Given the description of an element on the screen output the (x, y) to click on. 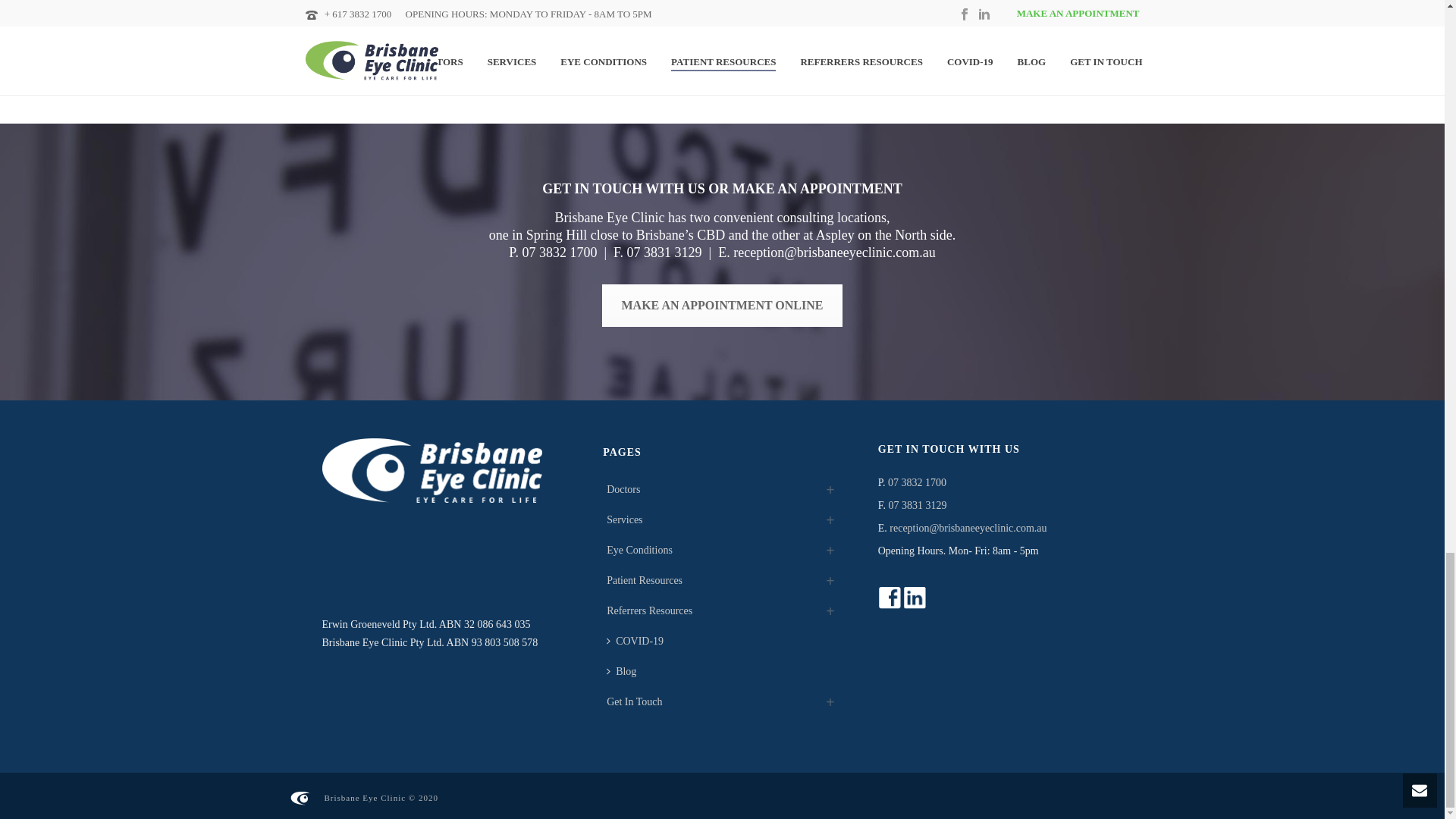
Brisbane Eye Clinic (298, 796)
